Given the description of an element on the screen output the (x, y) to click on. 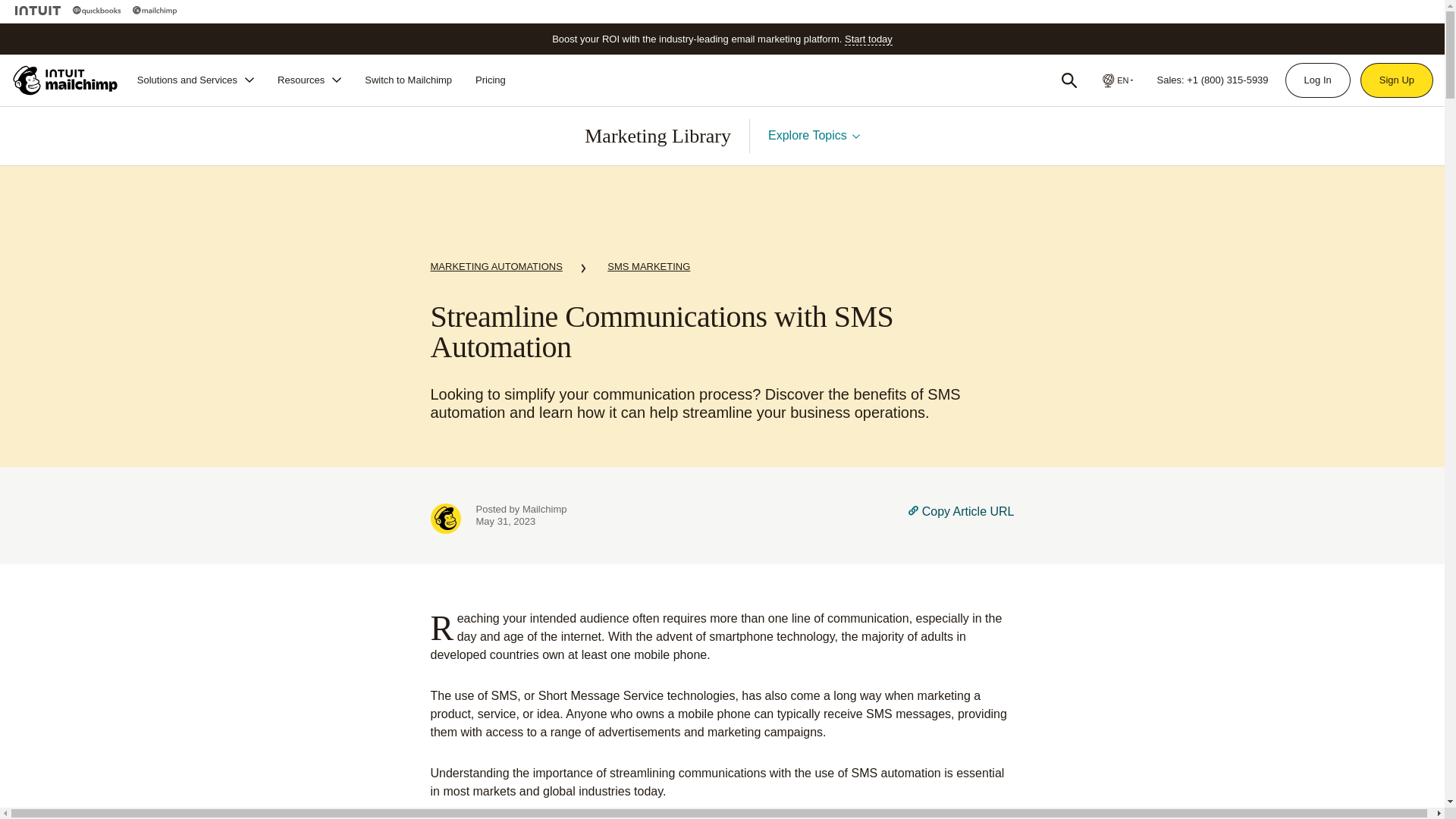
Pricing (490, 79)
Log In (1317, 80)
MARKETING AUTOMATIONS (496, 269)
Search (1069, 80)
Marketing Library (657, 136)
Copy URL to clipboard. (960, 518)
Sign Up (1396, 80)
Switch to Mailchimp (408, 79)
Start today (868, 39)
Explore Topics (814, 135)
Solutions and Services (195, 79)
Resources (308, 79)
